Given the description of an element on the screen output the (x, y) to click on. 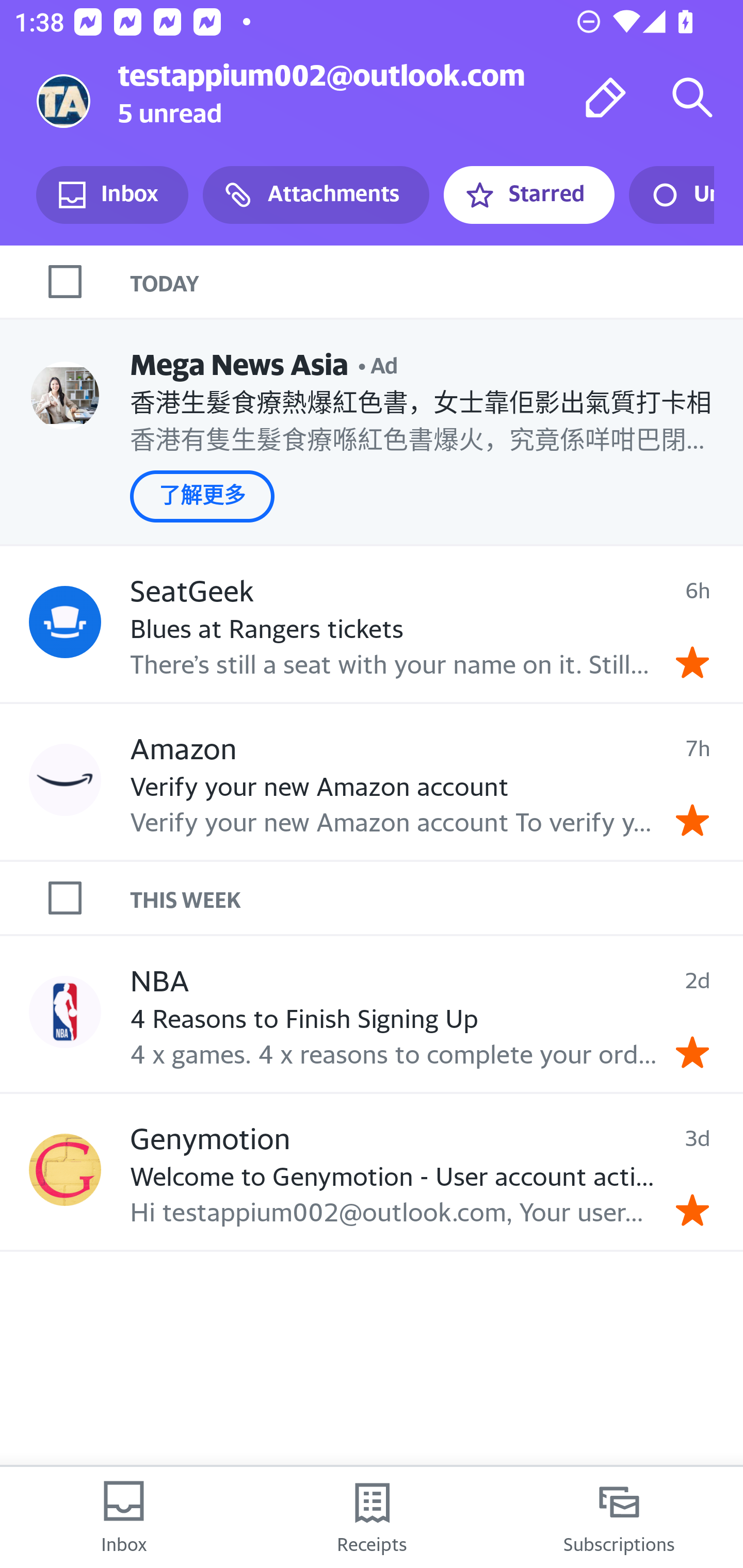
Compose (605, 97)
Search mail (692, 97)
Inbox (111, 195)
Attachments (315, 195)
TODAY (436, 281)
Profile
SeatGeek (64, 622)
Remove star. (692, 662)
Profile
Amazon (64, 779)
Remove star. (692, 820)
THIS WEEK (436, 897)
Profile
NBA (64, 1011)
Remove star. (692, 1052)
Profile
Genymotion (64, 1169)
Remove star. (692, 1209)
Inbox (123, 1517)
Receipts (371, 1517)
Subscriptions (619, 1517)
